Given the description of an element on the screen output the (x, y) to click on. 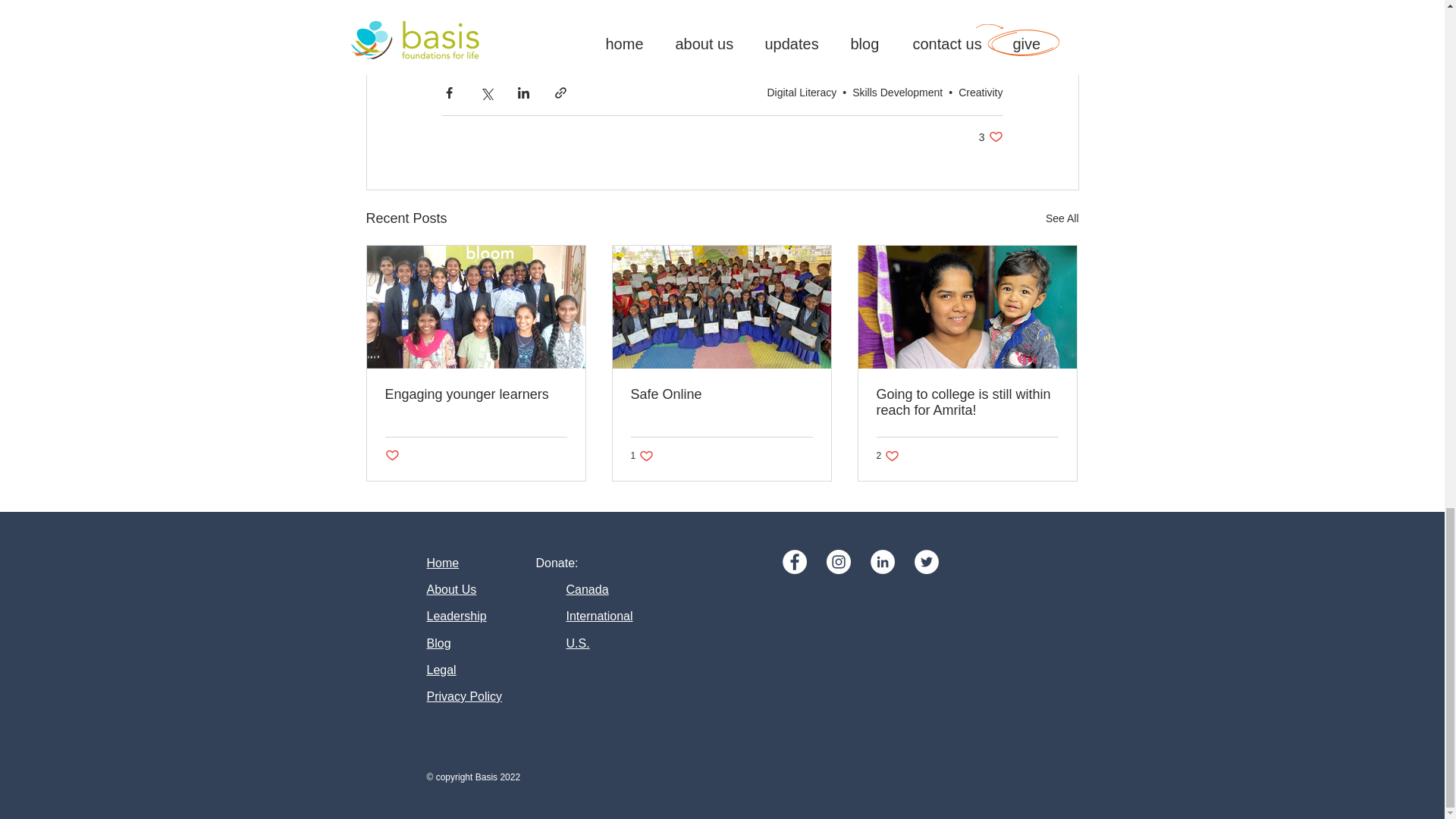
Going to college is still within reach for Amrita! (967, 402)
Safe Online (721, 394)
Engaging younger learners (476, 394)
Digital Literacy (801, 92)
About Us (451, 589)
Blog (437, 643)
Home (641, 455)
Creativity (442, 562)
